Given the description of an element on the screen output the (x, y) to click on. 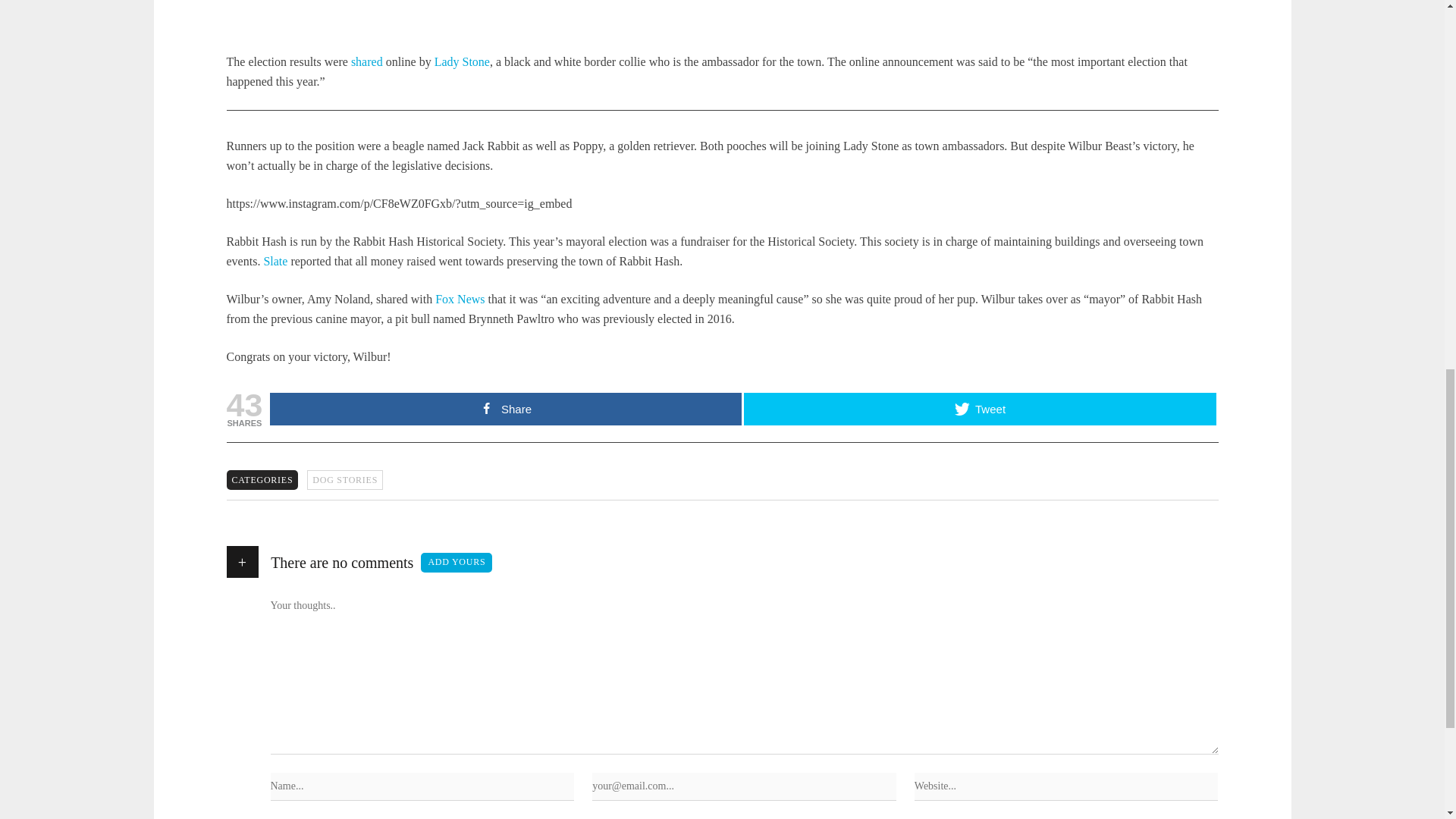
shared (367, 61)
Slate (274, 260)
Share (505, 409)
Fox News (459, 298)
Tweet (979, 409)
ADD YOURS (456, 562)
Lady Stone (461, 61)
View all posts in Dog Stories (344, 479)
DOG STORIES (344, 479)
